Given the description of an element on the screen output the (x, y) to click on. 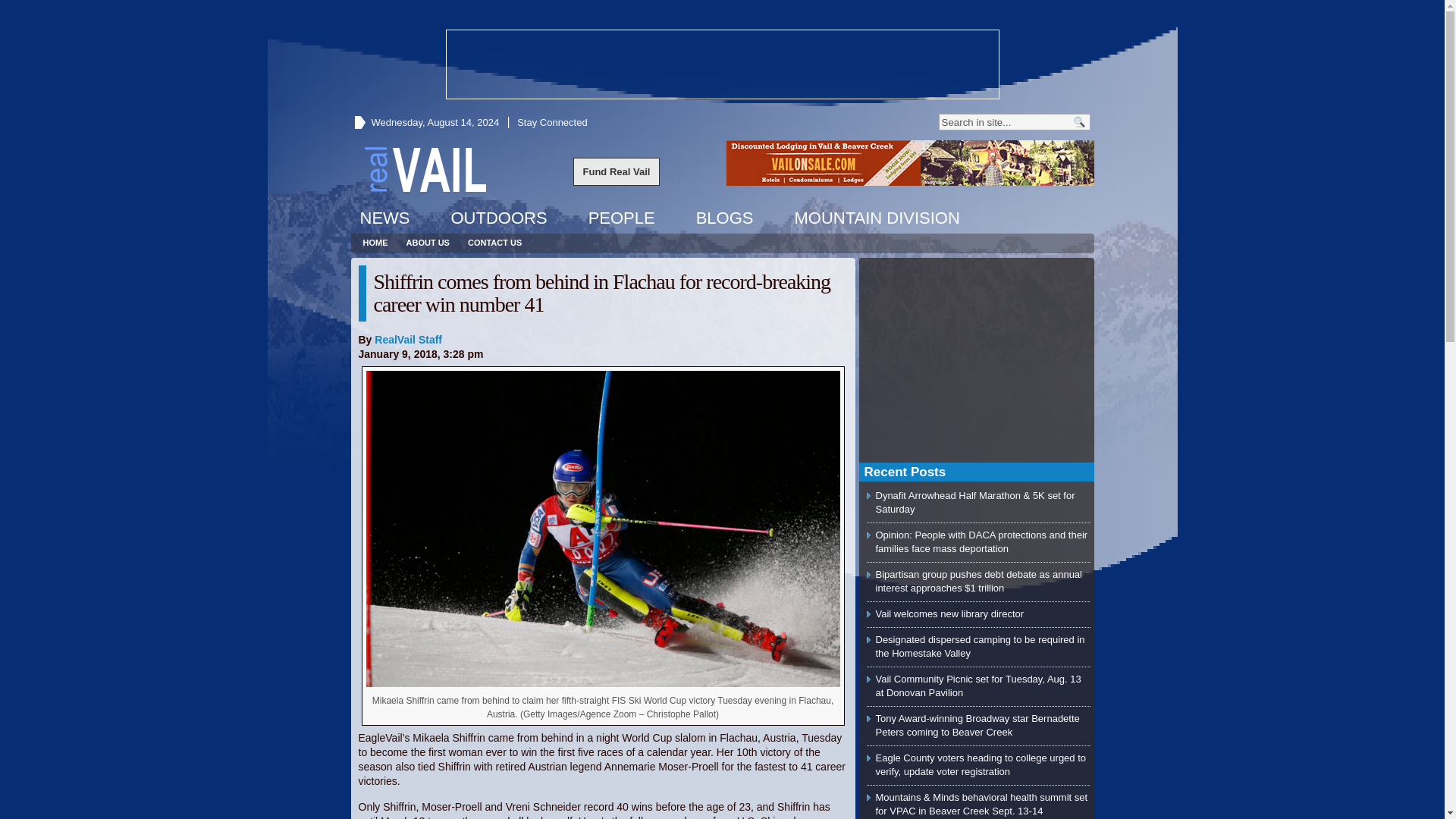
Search in site... (1004, 121)
OUTDOORS (498, 217)
BLOGS (724, 217)
MOUNTAIN DIVISION (876, 217)
Posts by RealVail Staff (408, 339)
CONTACT US (494, 242)
Vail welcomes new library director (949, 613)
NEWS (384, 217)
